Given the description of an element on the screen output the (x, y) to click on. 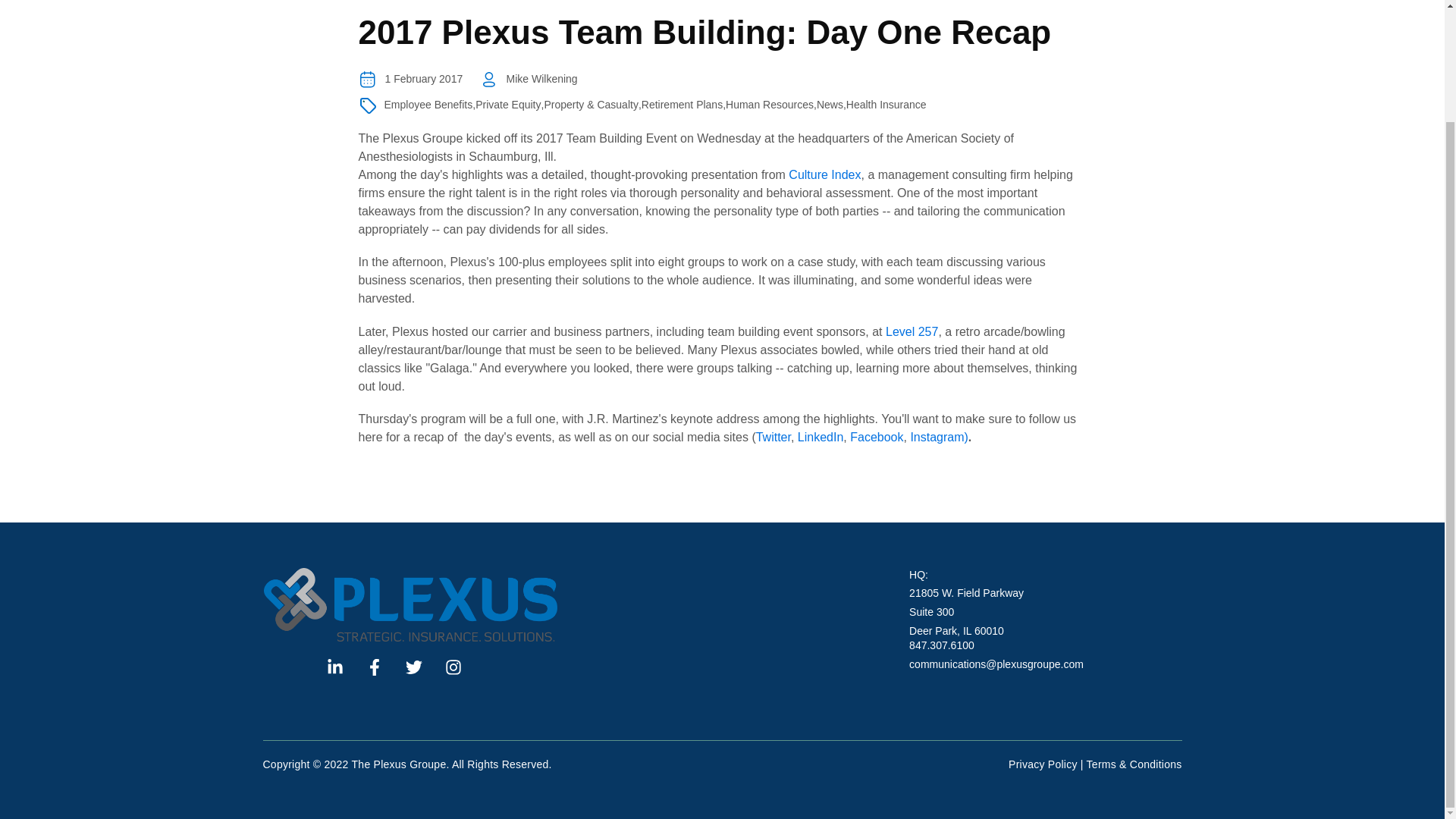
Retirement Plans (682, 105)
Level 257 (911, 331)
Culture Index (824, 174)
News (829, 105)
The Plexus Groupe (410, 604)
Human Resources (769, 105)
Employee Benefits (427, 105)
Facebook (876, 436)
Twitter (772, 436)
Health Insurance (885, 105)
